Given the description of an element on the screen output the (x, y) to click on. 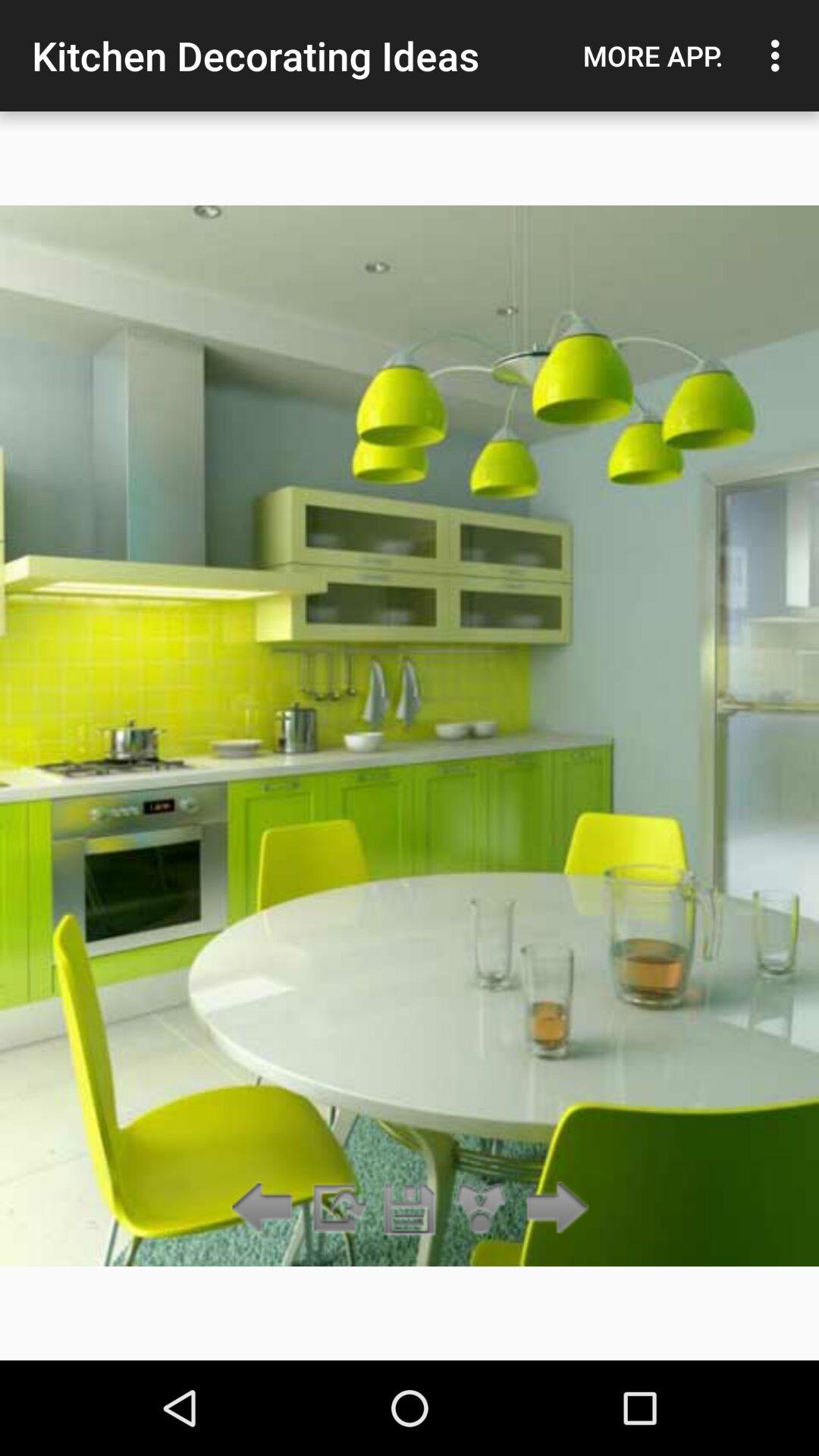
launch icon to the right of the kitchen decorating ideas icon (653, 55)
